Given the description of an element on the screen output the (x, y) to click on. 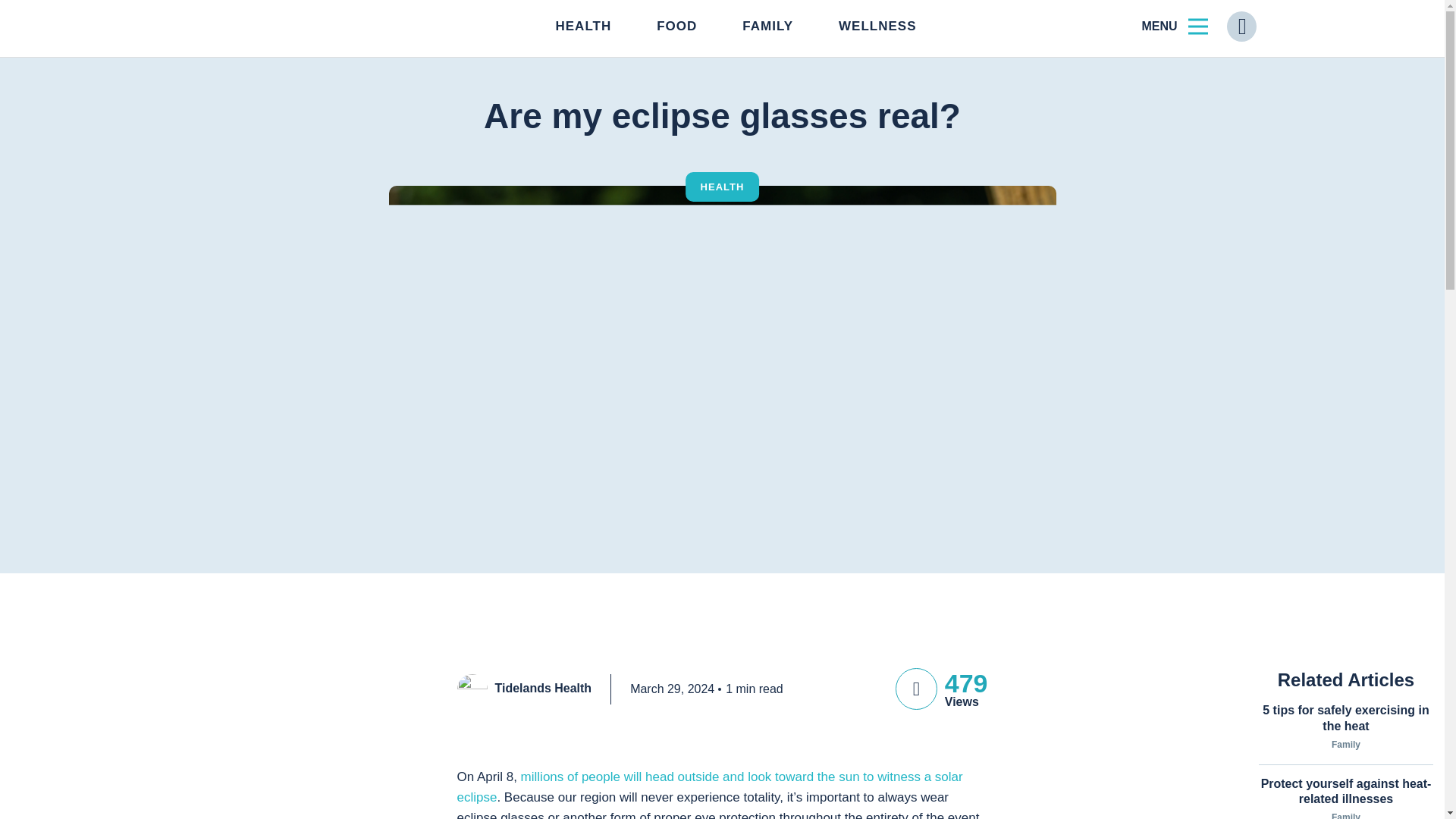
FAMILY (767, 26)
Food (676, 26)
MyCarolinaLife (258, 26)
Family (767, 26)
Wellness (877, 26)
Health (582, 26)
WELLNESS (877, 26)
MyCarolinaLife (258, 26)
Search Our Site (1241, 26)
HEALTH (582, 26)
FOOD (676, 26)
